Given the description of an element on the screen output the (x, y) to click on. 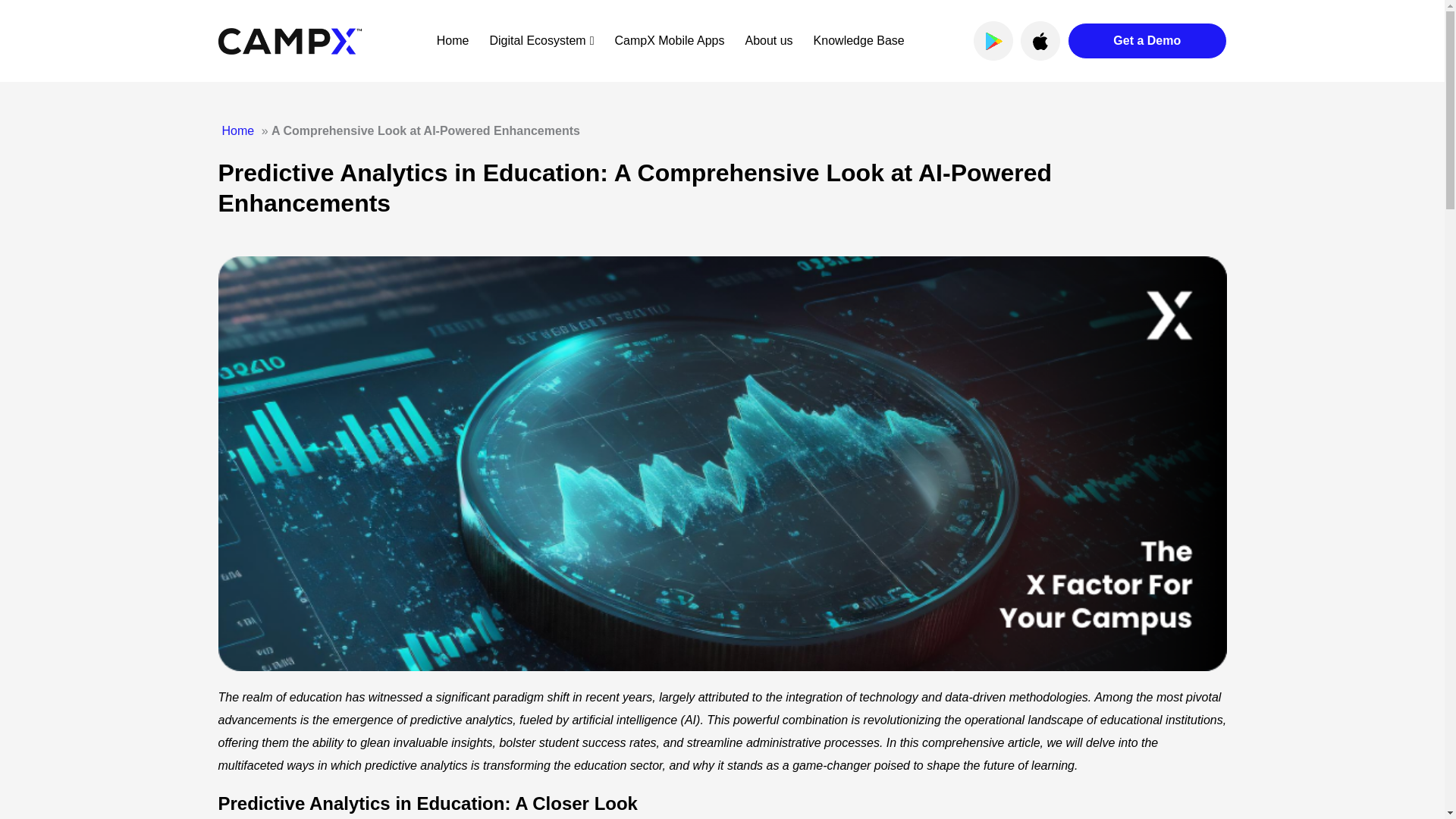
Home (452, 40)
Digital Ecosystem (541, 40)
Get a Demo (1147, 40)
About us (768, 40)
Knowledge Base (858, 40)
CampX Mobile Apps (668, 40)
